Given the description of an element on the screen output the (x, y) to click on. 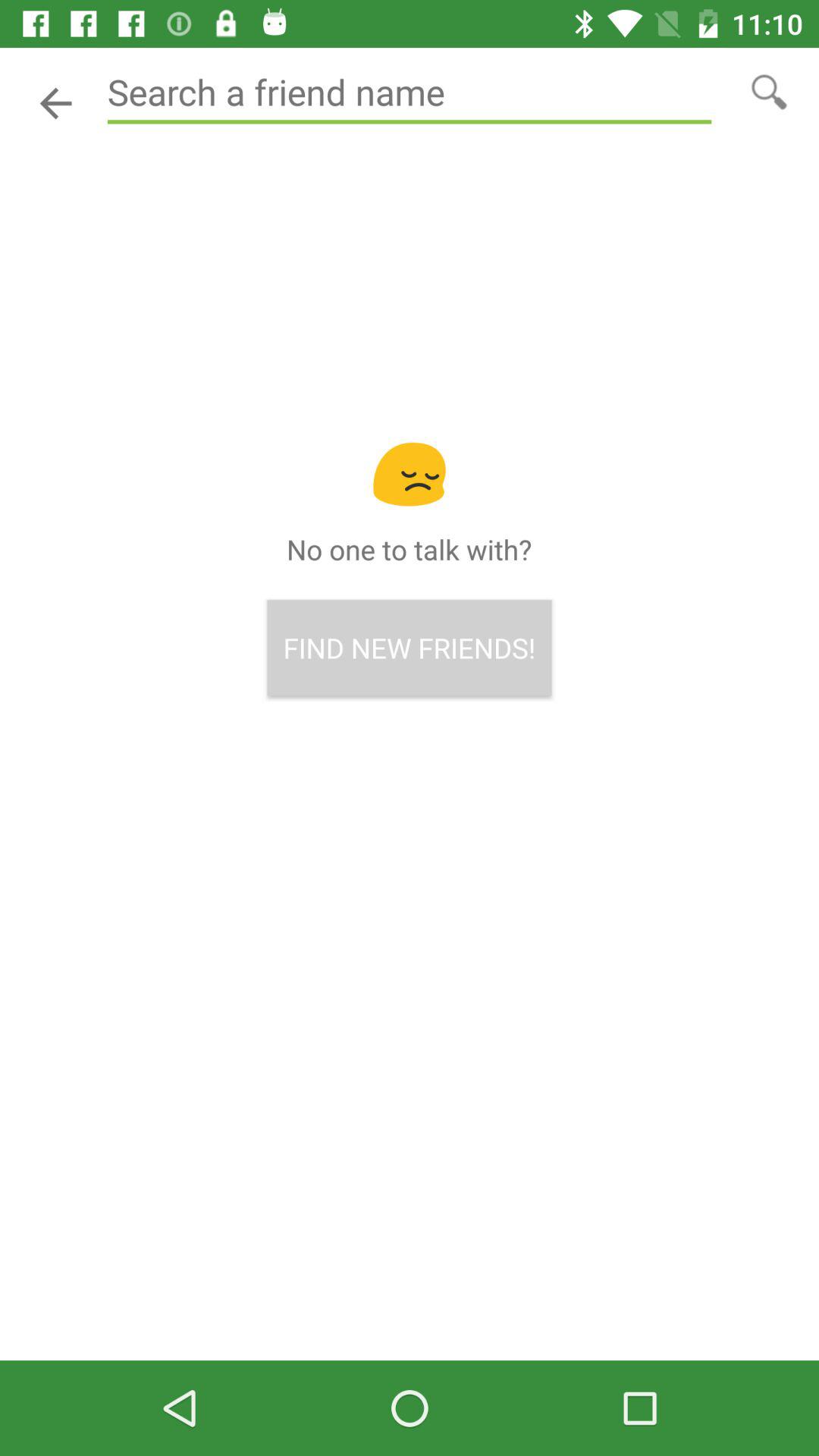
type the name (409, 92)
